Given the description of an element on the screen output the (x, y) to click on. 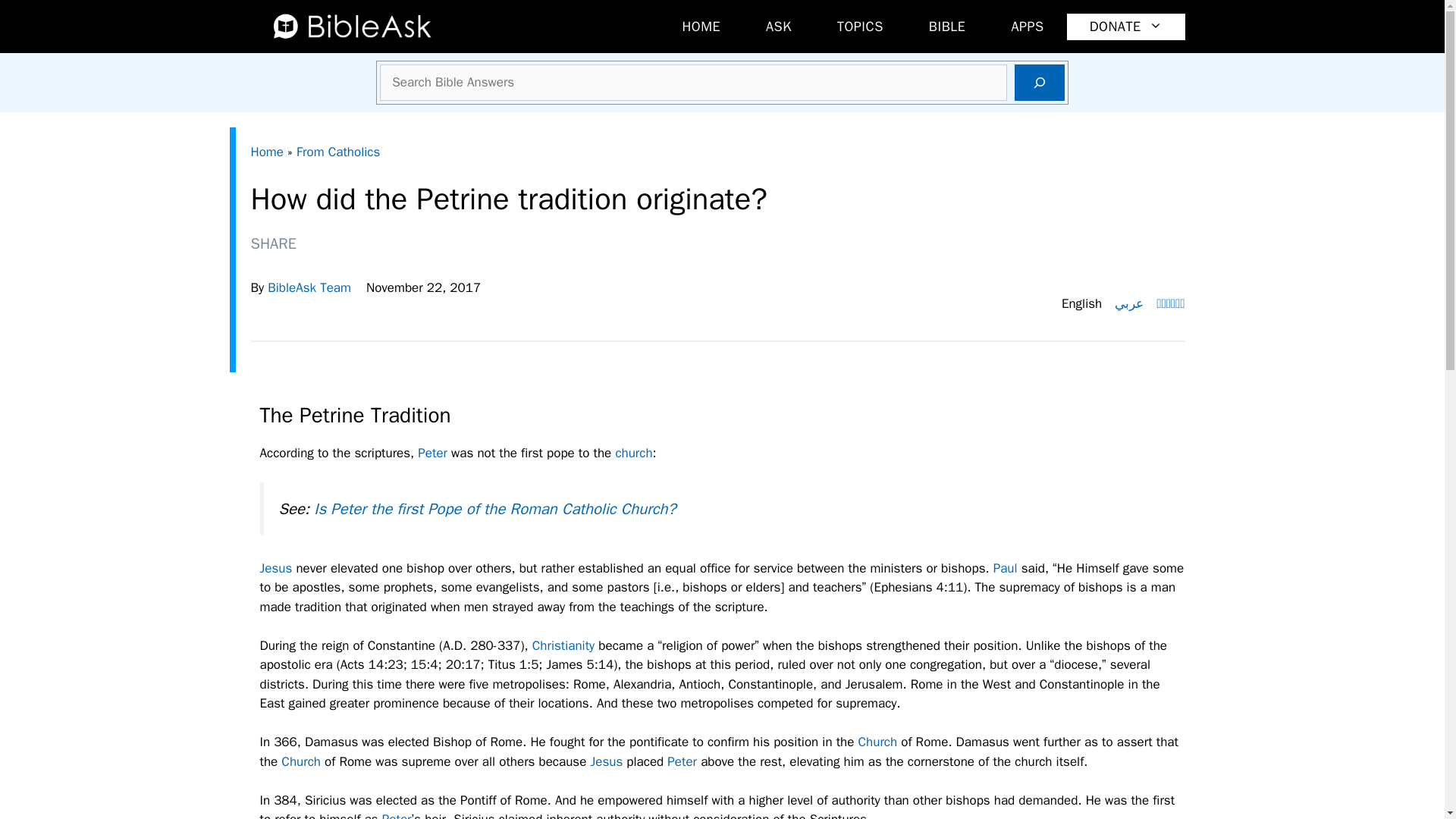
Is Peter the first Pope of the Roman Catholic Church? (494, 508)
Christianity (563, 645)
Peter (431, 453)
Paul (1004, 568)
Church (878, 741)
From Catholics (338, 151)
Home (266, 151)
Jesus (606, 761)
Jesus (275, 568)
church (633, 453)
Church (300, 761)
DONATE (1126, 26)
HOME (700, 26)
Christianity (563, 645)
church (633, 453)
